Given the description of an element on the screen output the (x, y) to click on. 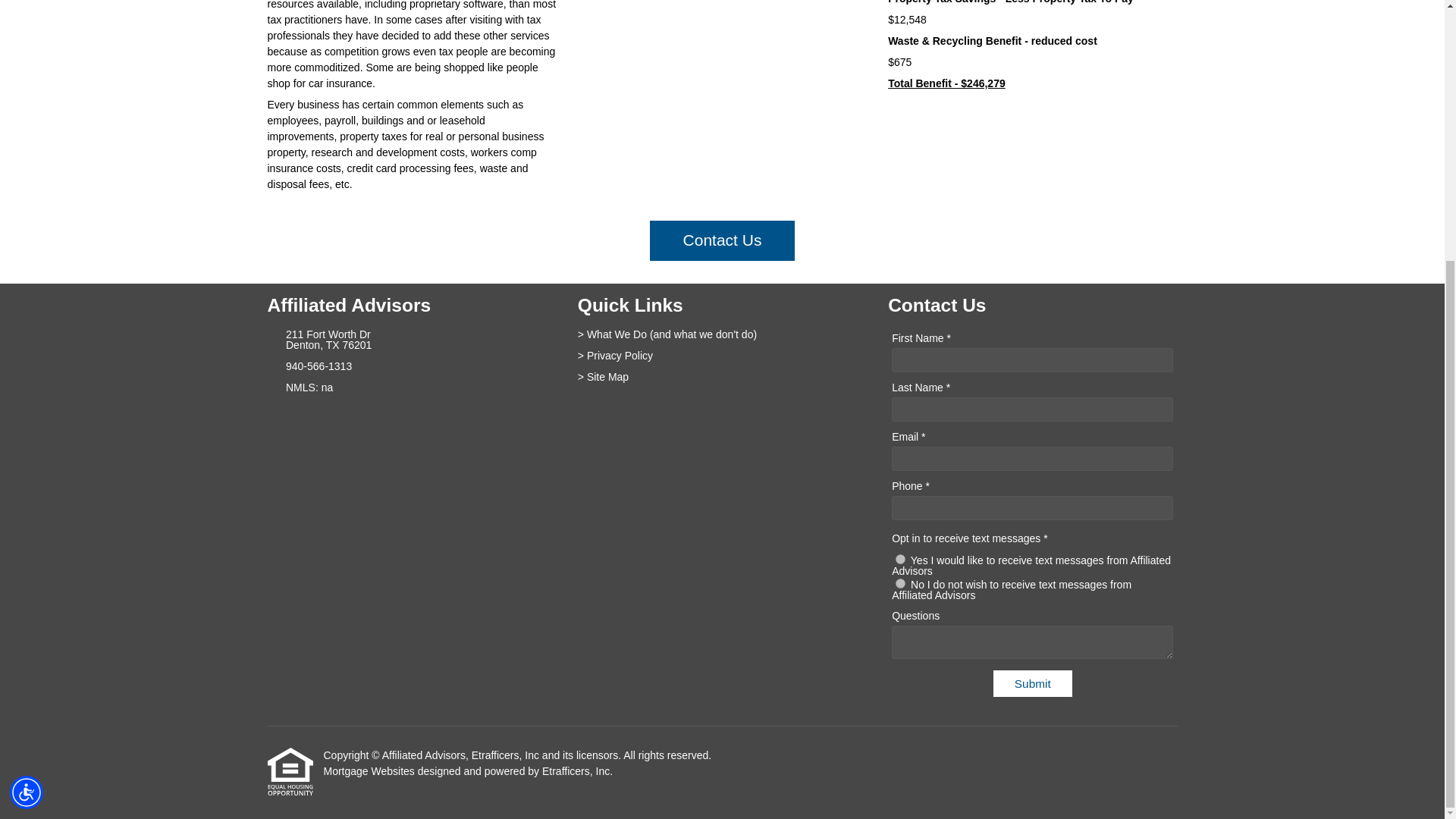
Accessibility Menu (26, 418)
Submit (1031, 683)
Contact Us (721, 240)
Mortgage Websites (368, 770)
